Given the description of an element on the screen output the (x, y) to click on. 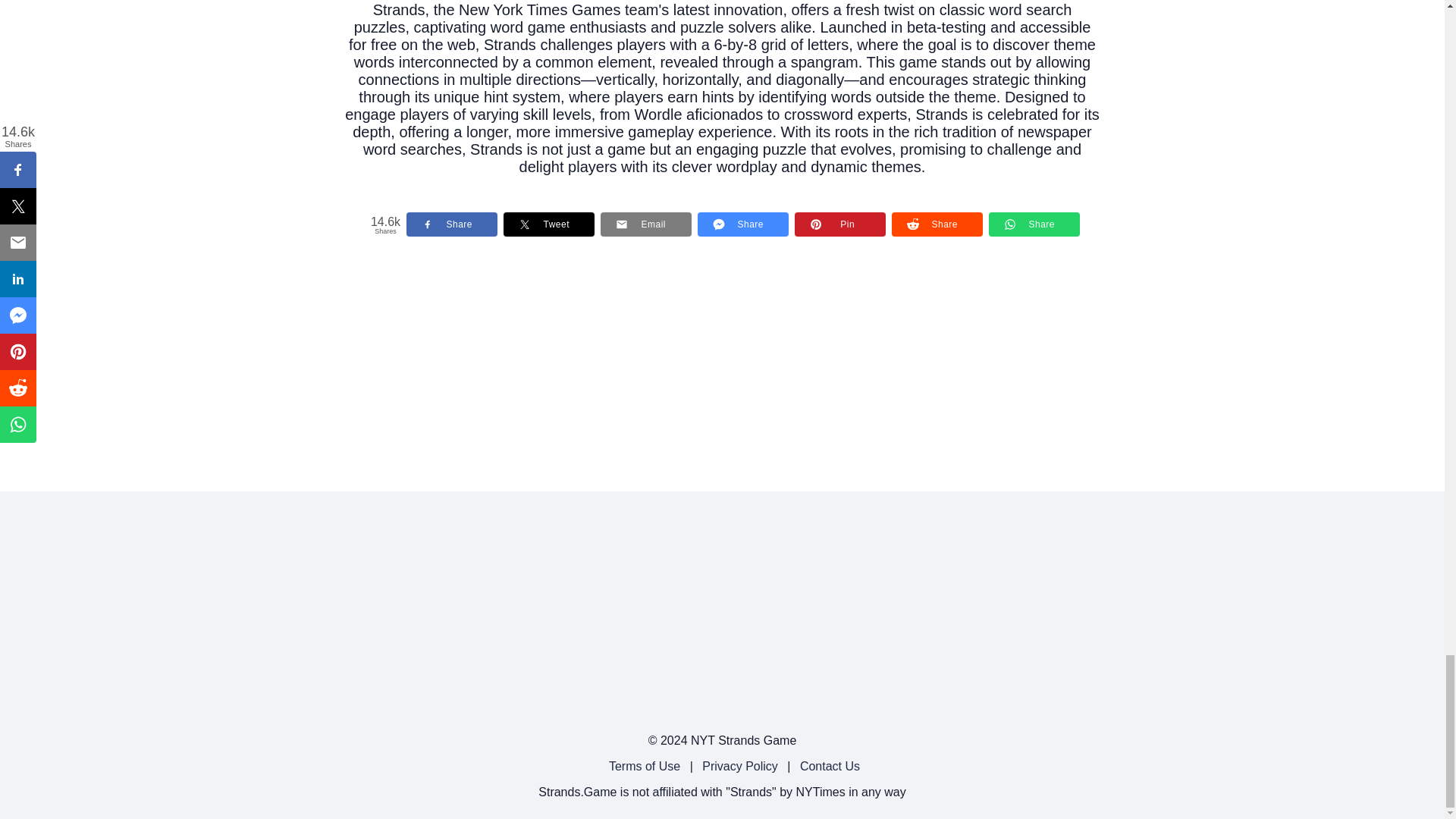
Privacy Policy (739, 766)
Terms of Use (643, 766)
Contact Us (829, 766)
